Given the description of an element on the screen output the (x, y) to click on. 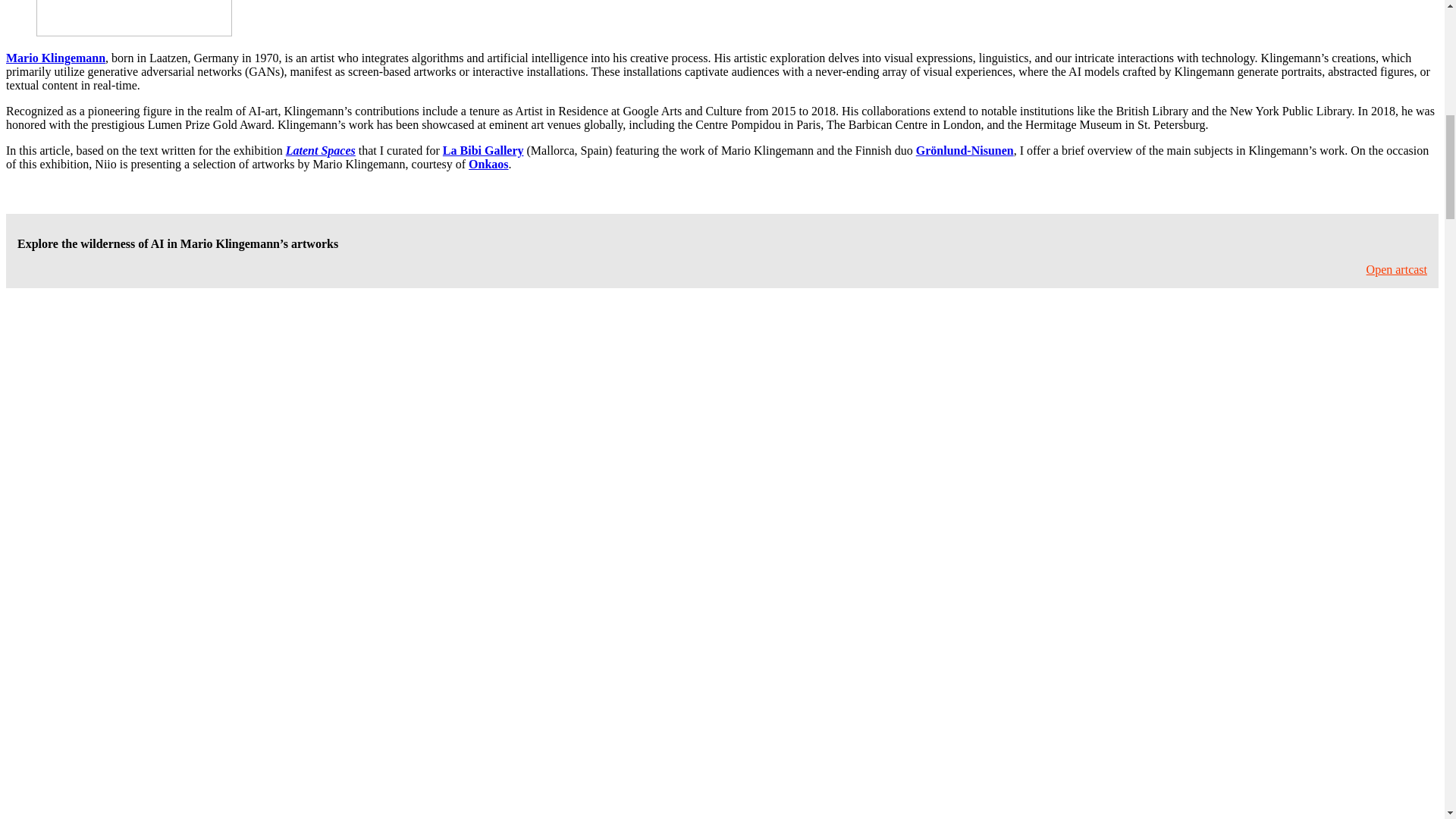
Latent Spaces (320, 150)
La Bibi Gallery (483, 150)
Onkaos (488, 164)
Open artcast (1396, 269)
Mario Klingemann (54, 57)
